Given the description of an element on the screen output the (x, y) to click on. 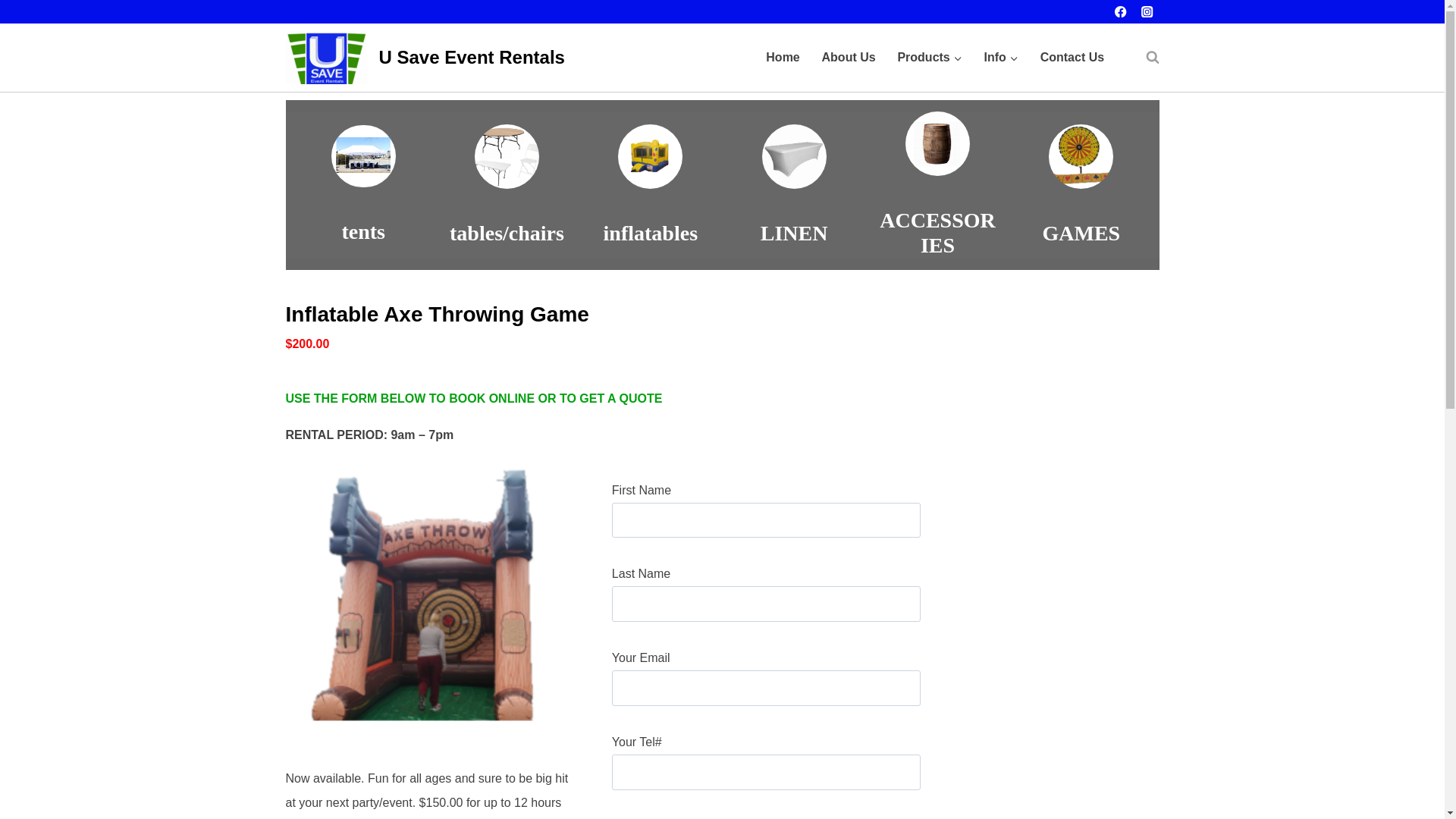
About Us (848, 57)
Products (929, 57)
U Save Event Rentals (424, 57)
Home (782, 57)
